Given the description of an element on the screen output the (x, y) to click on. 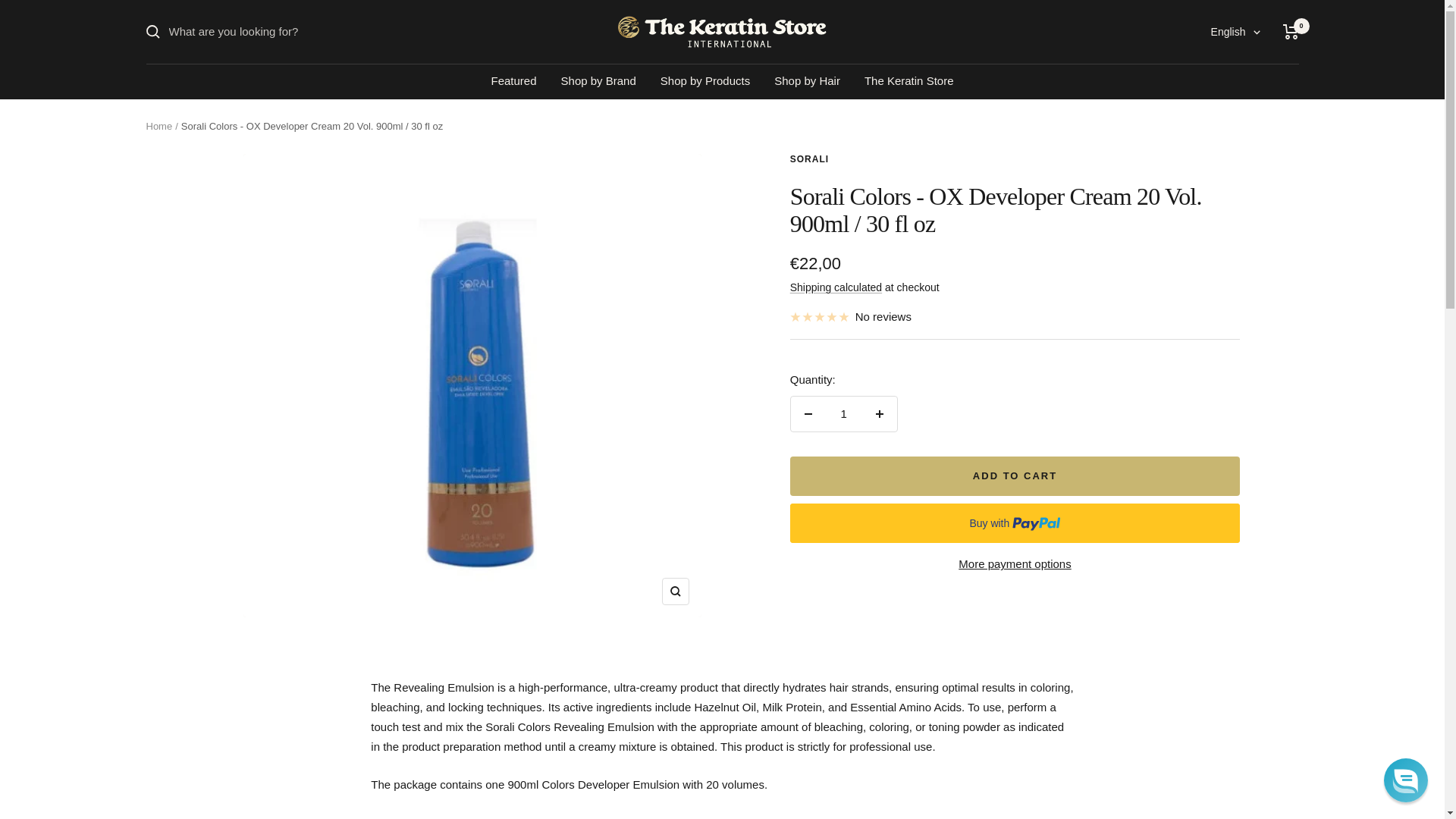
ar (1225, 134)
Increase quantity (878, 413)
No reviews (850, 316)
Shipping calculated (836, 287)
Shop by Hair (807, 80)
Zoom (675, 591)
The Keratin Store (908, 80)
English (1235, 31)
Shop by Products (705, 80)
The Keratin Store International (722, 31)
en (1225, 84)
Decrease quantity (807, 413)
More payment options (1015, 564)
fr (1225, 108)
0 (1290, 31)
